Given the description of an element on the screen output the (x, y) to click on. 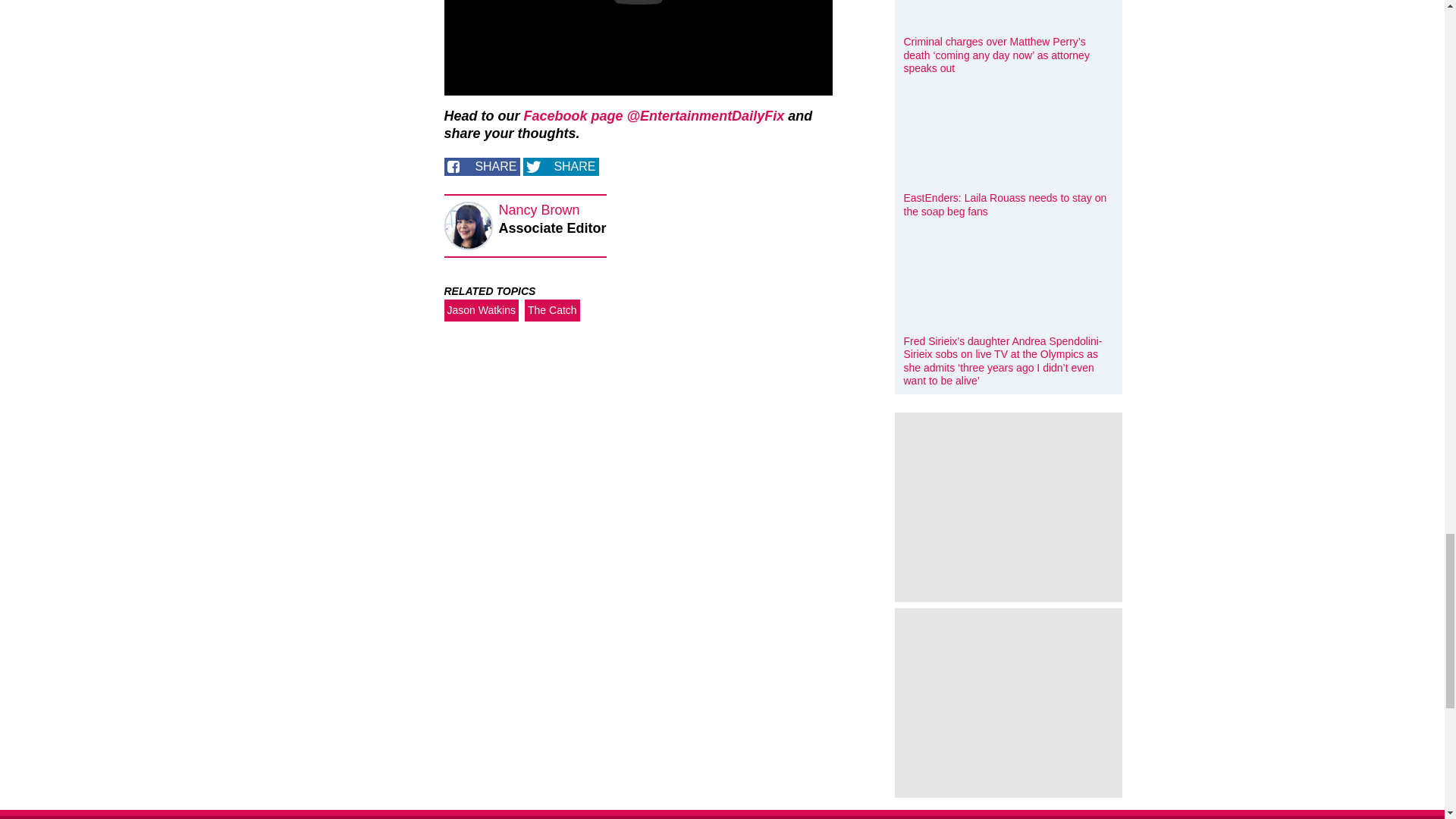
Jason Watkins (481, 310)
The Catch (551, 310)
SHARE (481, 167)
SHARE (560, 167)
Nancy Brown (539, 209)
Play Video (637, 2)
